Given the description of an element on the screen output the (x, y) to click on. 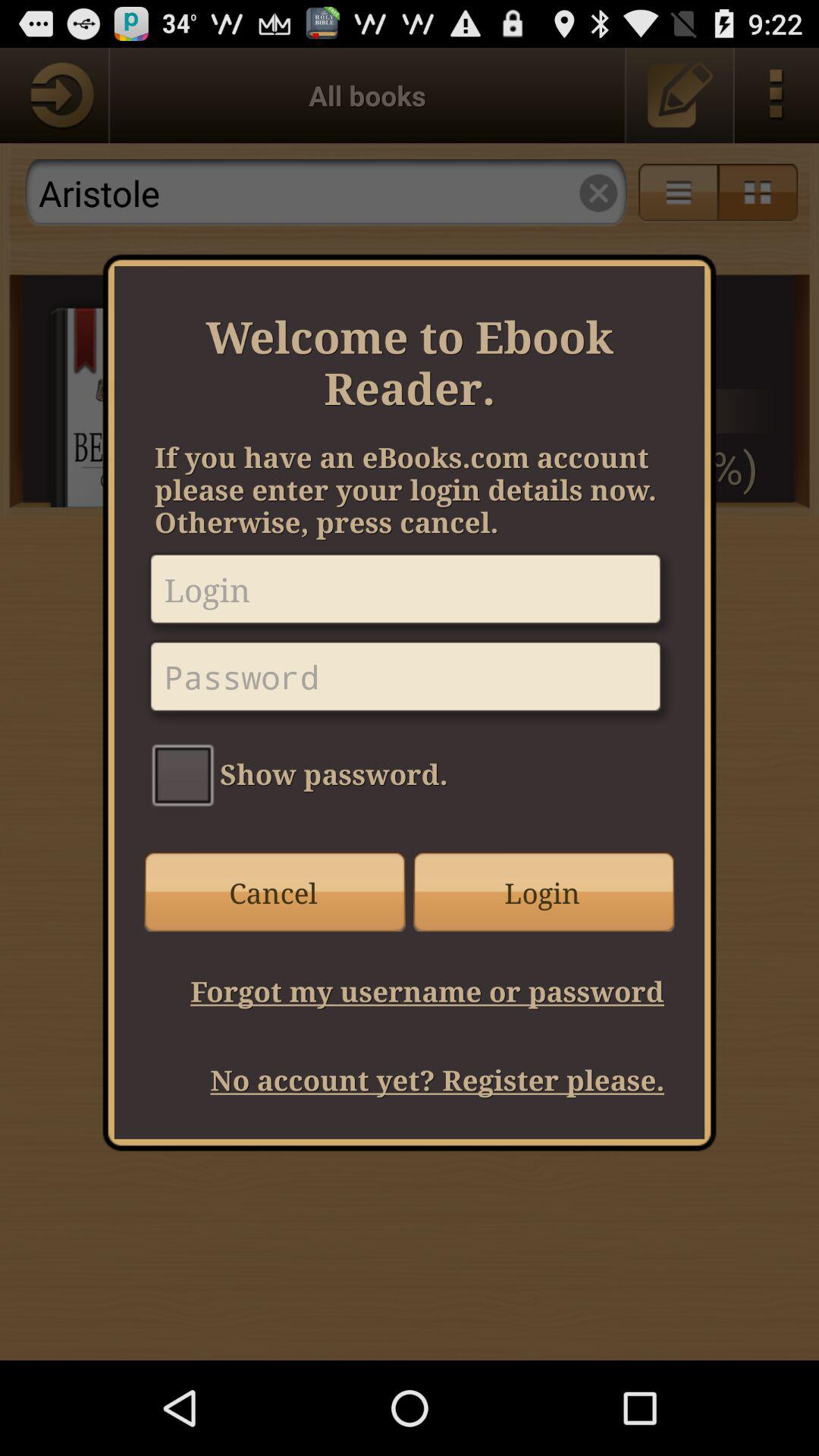
add password (409, 682)
